Given the description of an element on the screen output the (x, y) to click on. 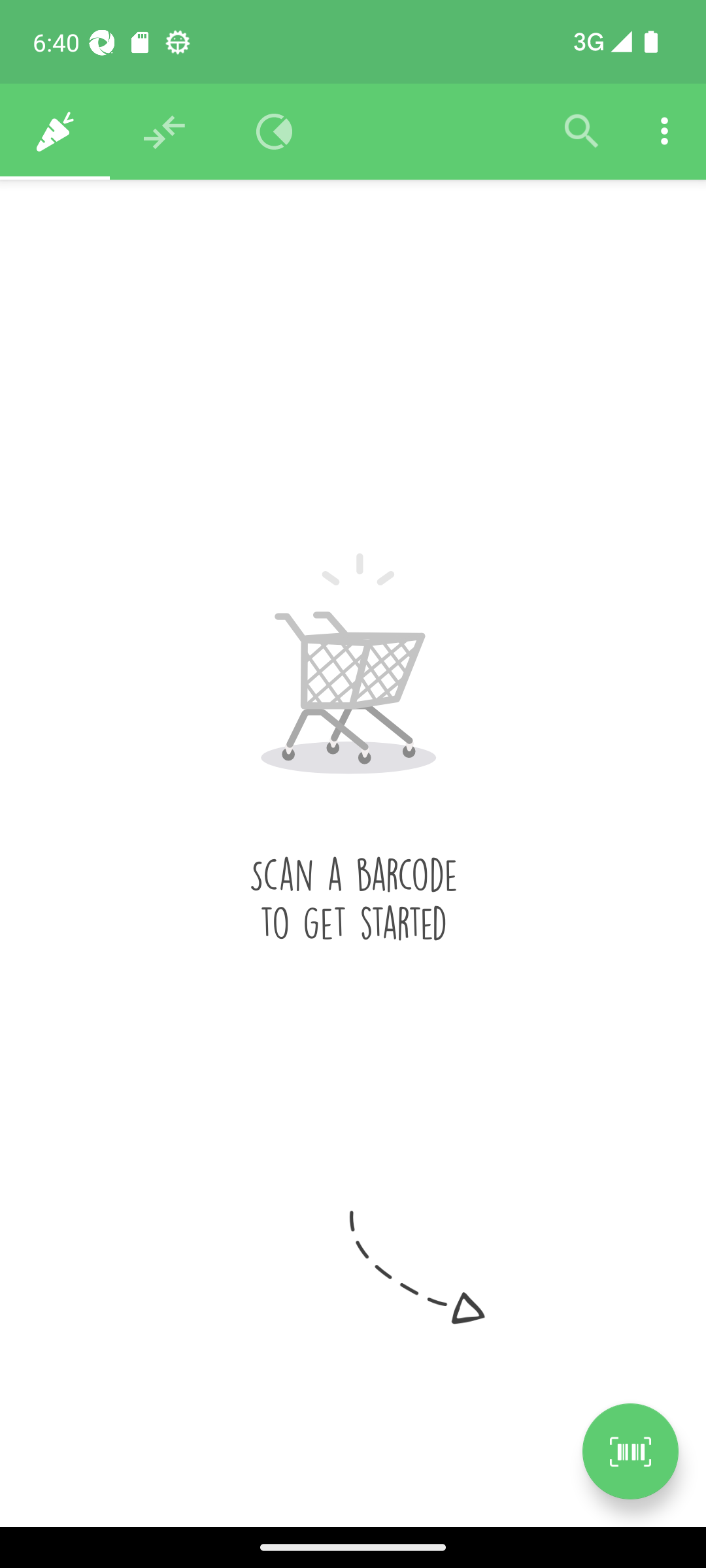
Recommendations (164, 131)
Overview (274, 131)
Filter (581, 131)
Settings (664, 131)
Scan a product (630, 1451)
